Given the description of an element on the screen output the (x, y) to click on. 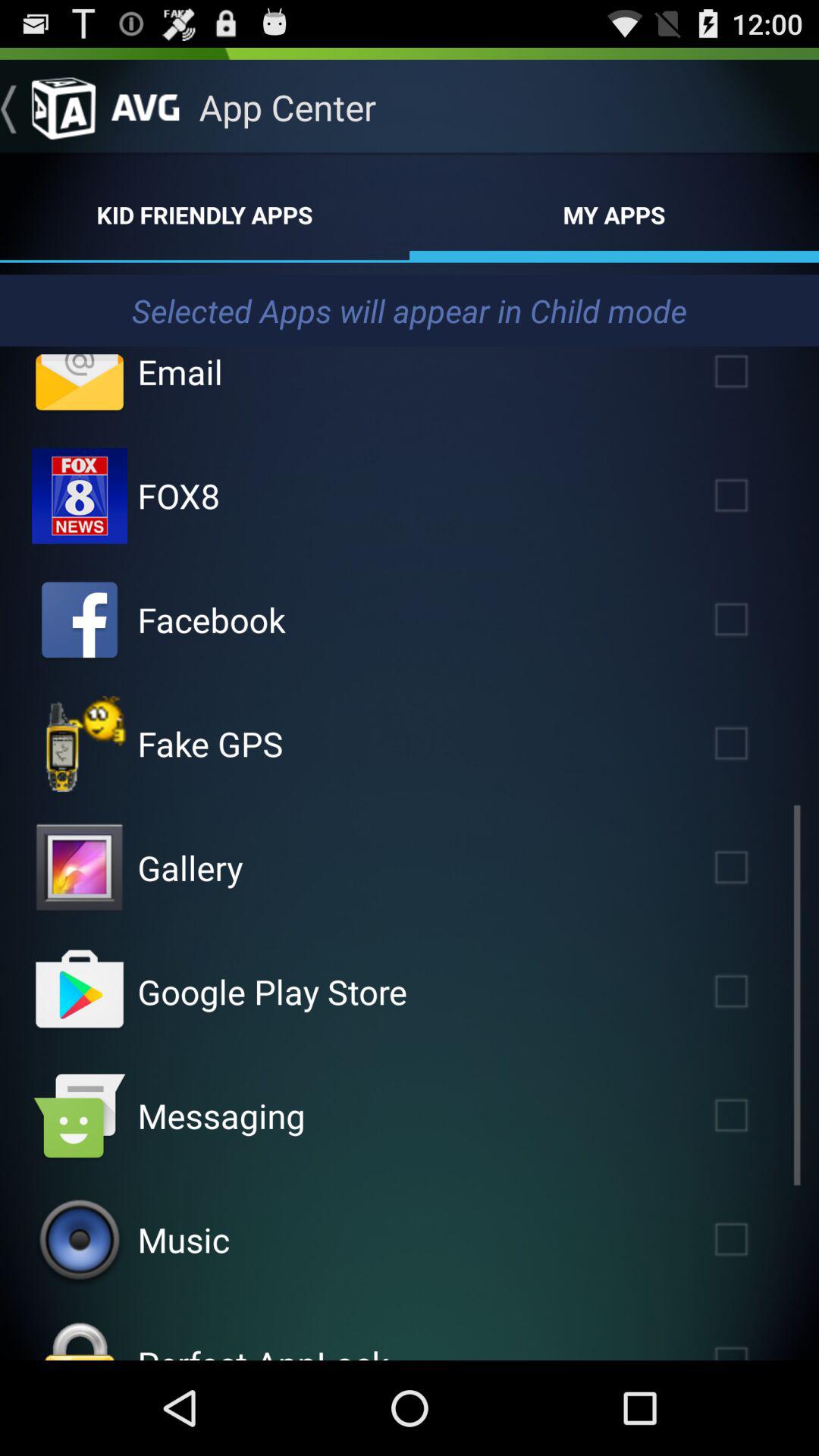
select facebook to child mode (79, 619)
